Given the description of an element on the screen output the (x, y) to click on. 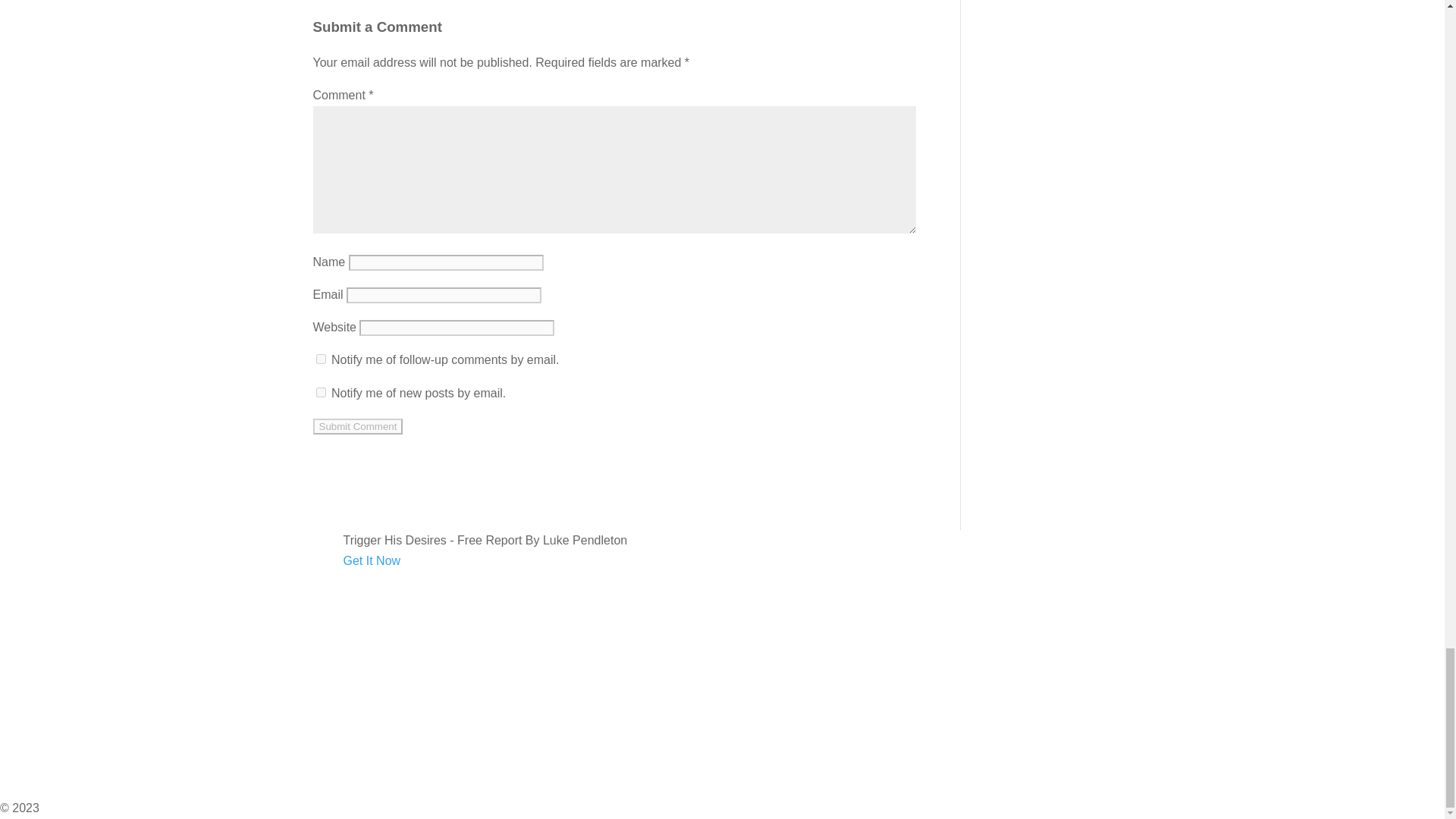
subscribe (319, 358)
Submit Comment (358, 426)
subscribe (319, 392)
Submit Comment (358, 426)
Dating (17, 601)
Commitment (34, 622)
